Given the description of an element on the screen output the (x, y) to click on. 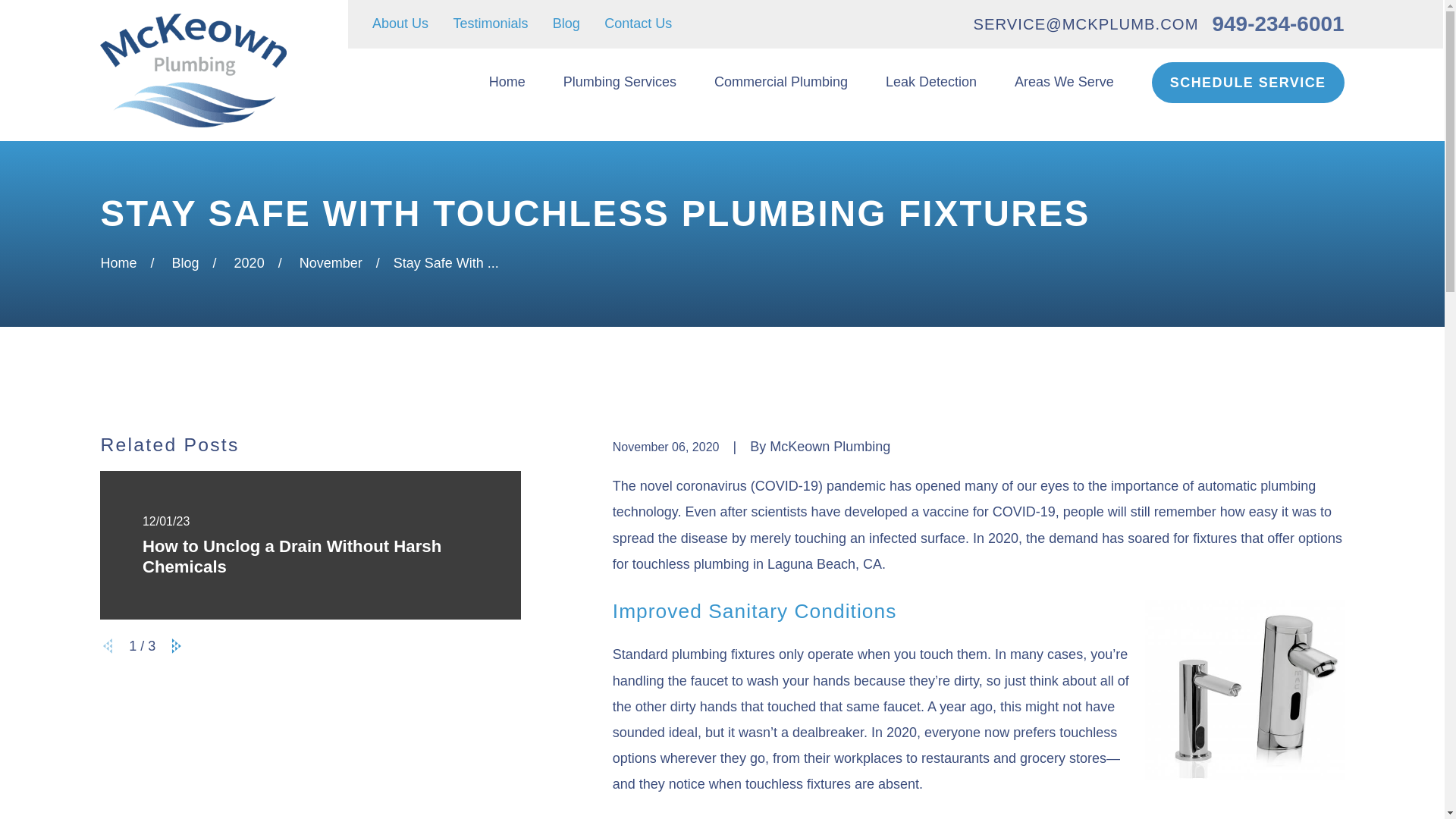
Home (192, 70)
Go Home (118, 263)
View next item (176, 645)
Plumbing Services (620, 82)
Testimonials (489, 23)
Areas We Serve (1063, 82)
View previous item (107, 645)
Leak Detection (930, 82)
Contact Us (637, 23)
Blog (566, 23)
Commercial Plumbing (780, 82)
About Us (400, 23)
949-234-6001 (1277, 24)
